Given the description of an element on the screen output the (x, y) to click on. 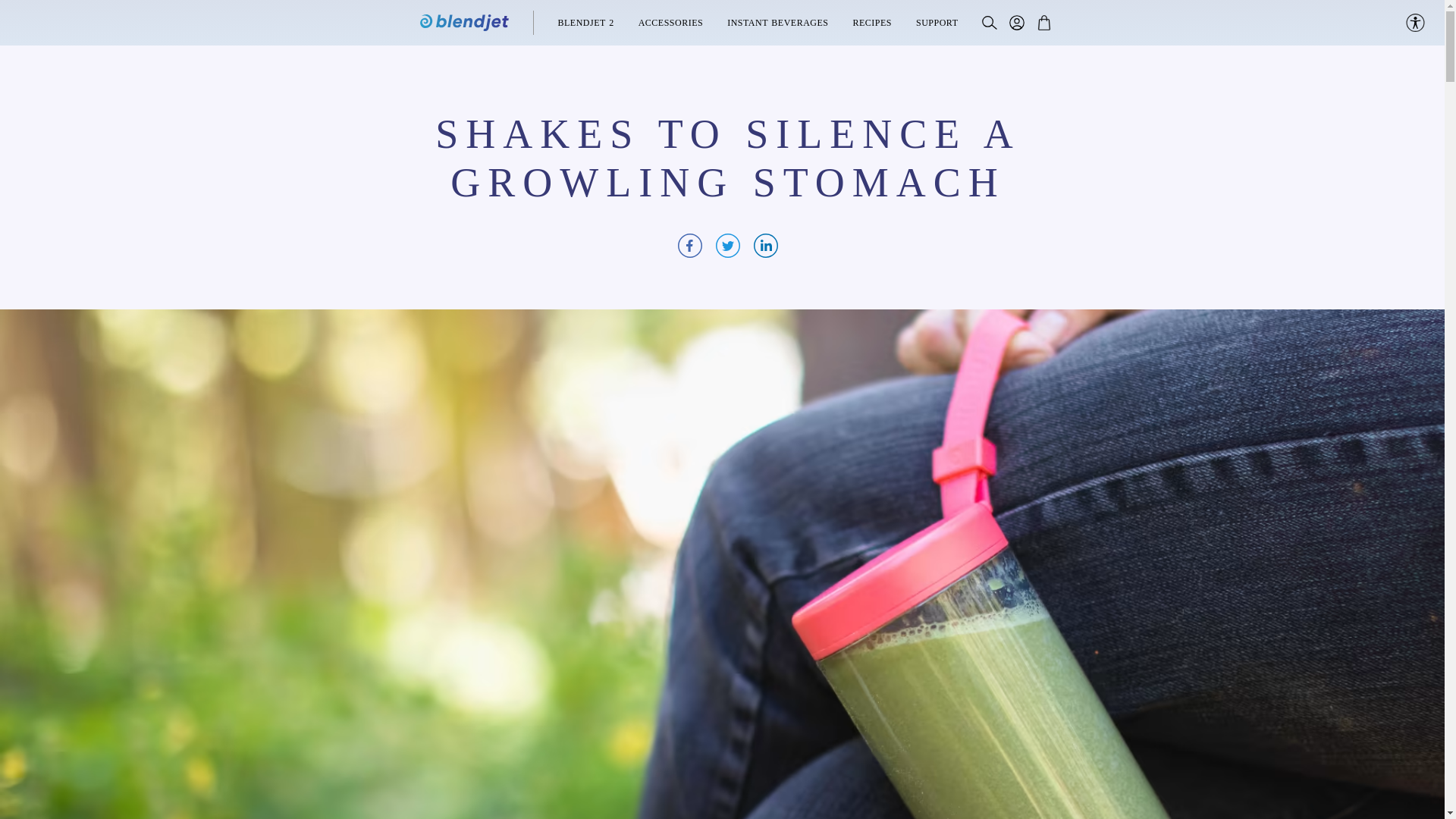
ACCESSORIES (671, 22)
INSTANT BEVERAGES (777, 22)
SUPPORT (936, 22)
RECIPES (871, 22)
BLENDJET 2 (585, 22)
twitterIcon (727, 245)
linkedinIcon (765, 245)
facebookIcon (689, 245)
